Given the description of an element on the screen output the (x, y) to click on. 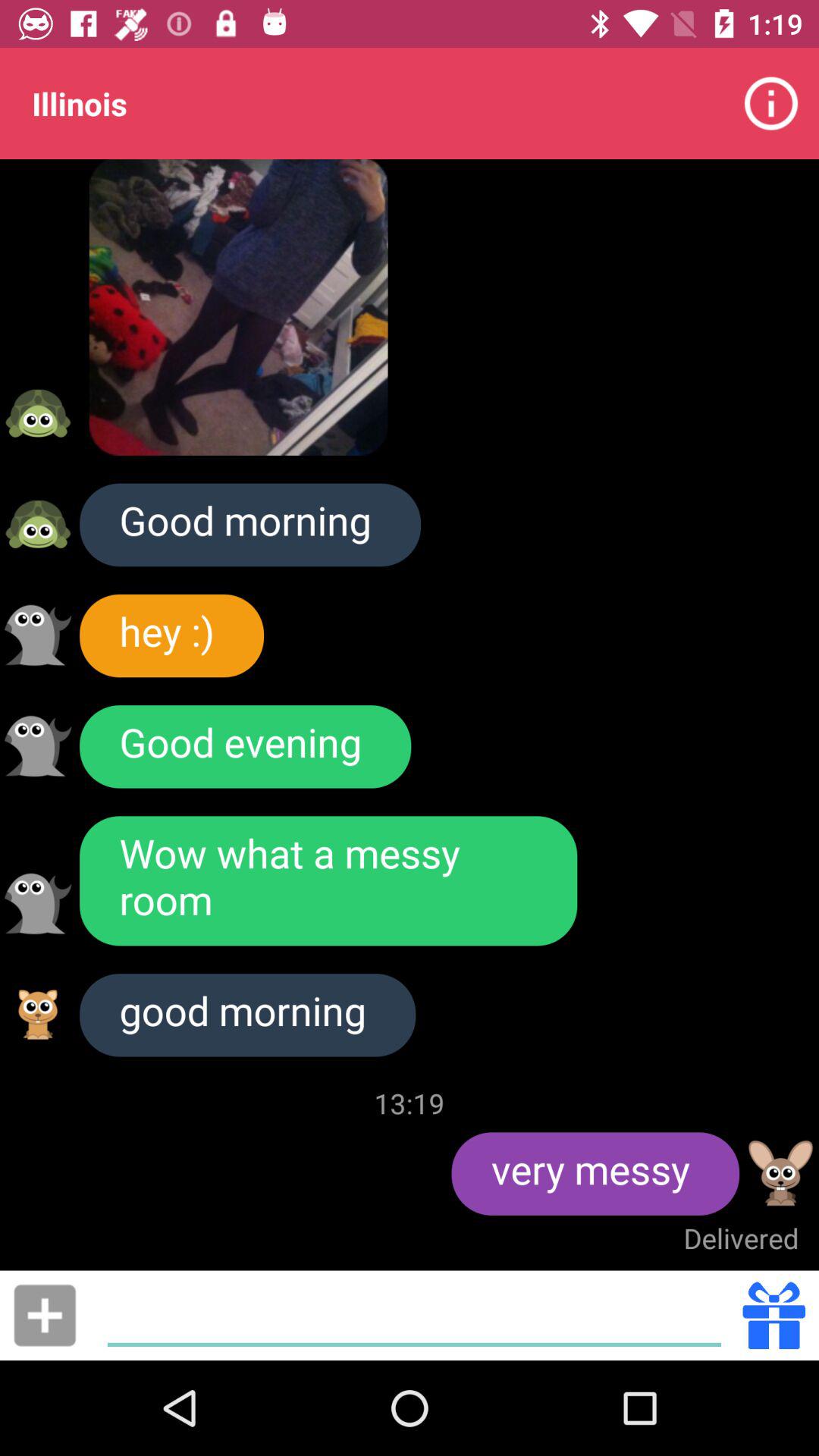
click the ghost (38, 635)
